Given the description of an element on the screen output the (x, y) to click on. 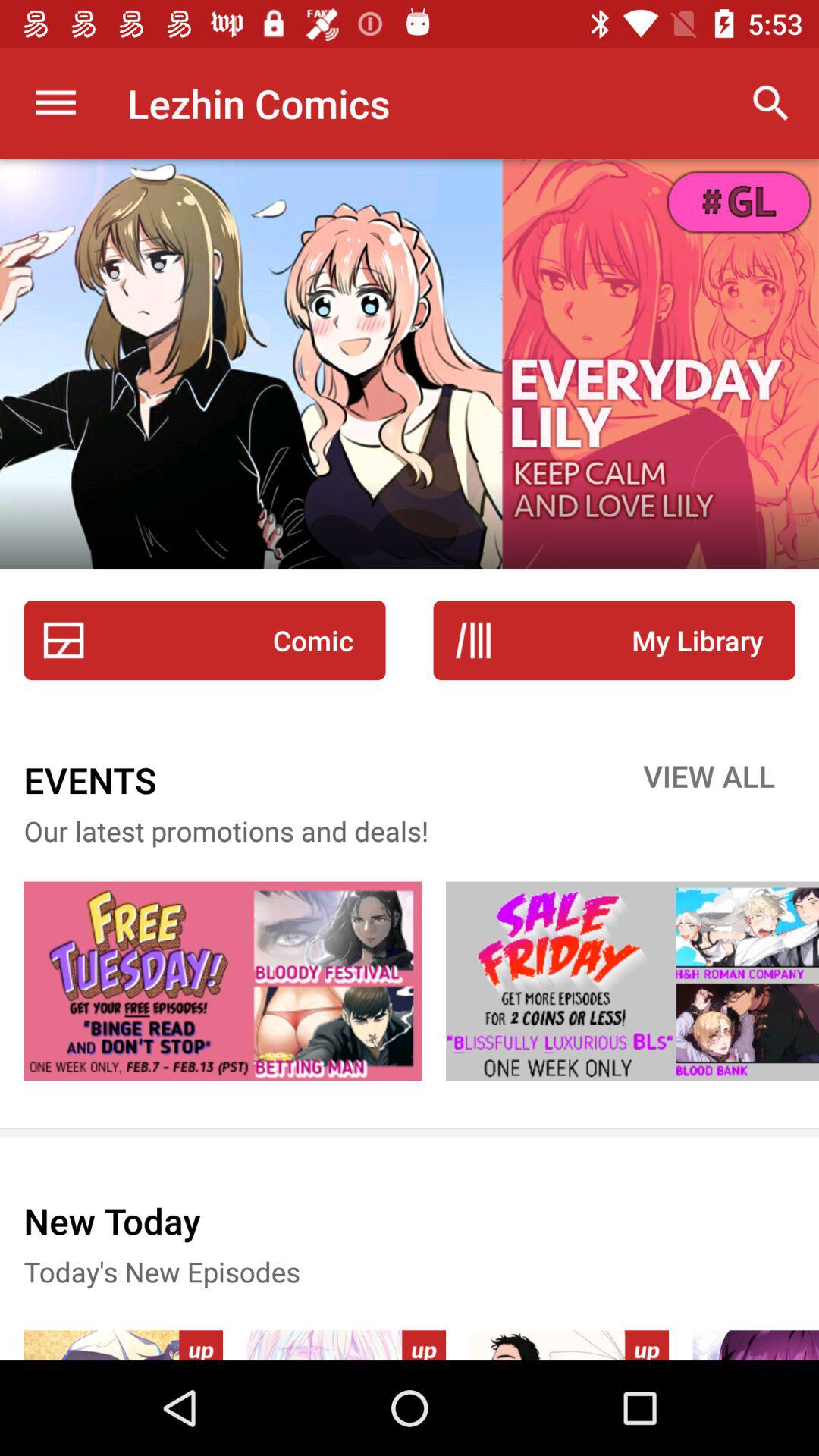
orange box flashing for selecting movie (632, 980)
